Given the description of an element on the screen output the (x, y) to click on. 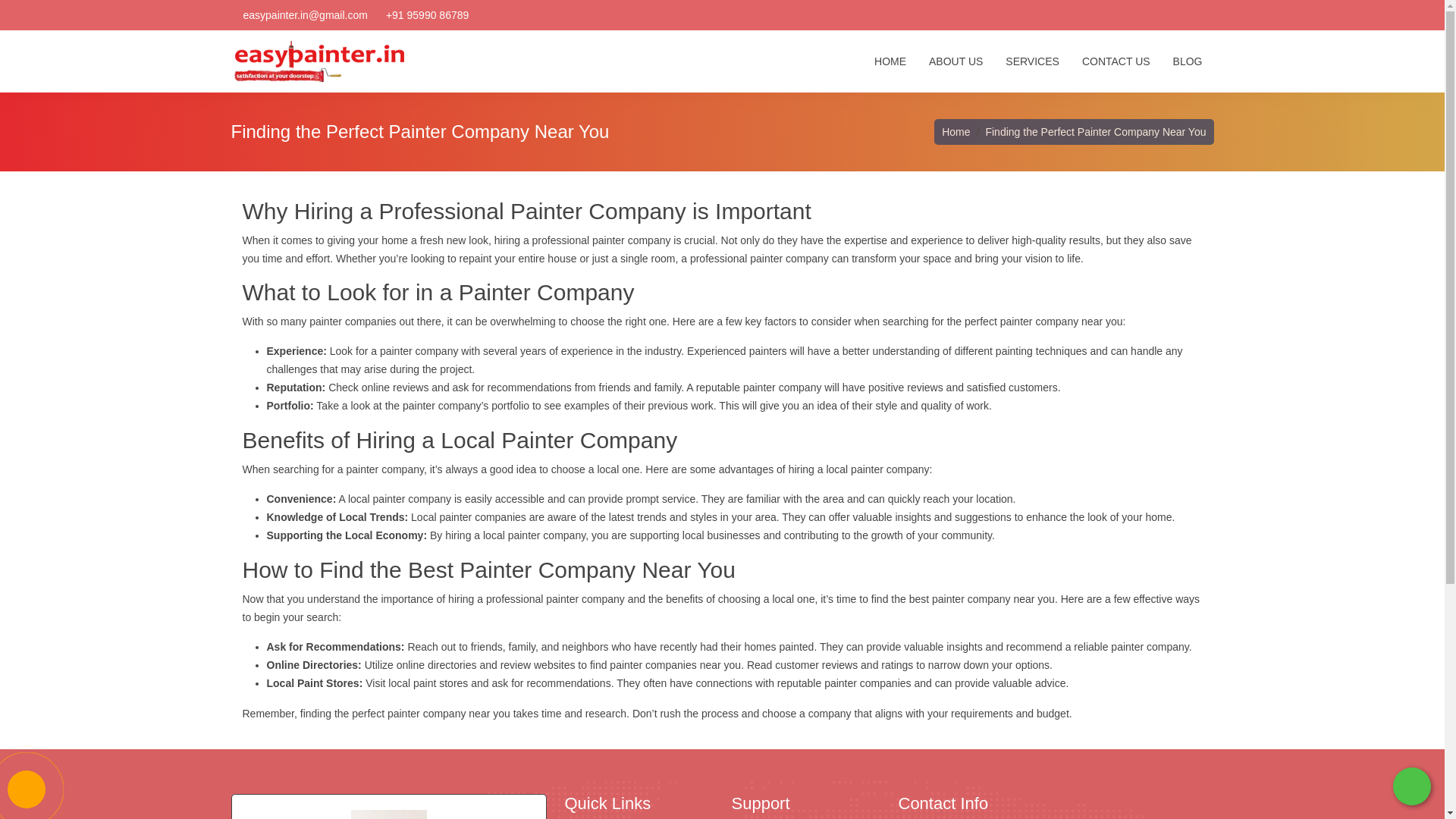
SERVICES (1032, 61)
HOME (890, 61)
ABOUT US (955, 61)
BLOG (1187, 61)
Home (955, 132)
CONTACT US (1115, 61)
